Given the description of an element on the screen output the (x, y) to click on. 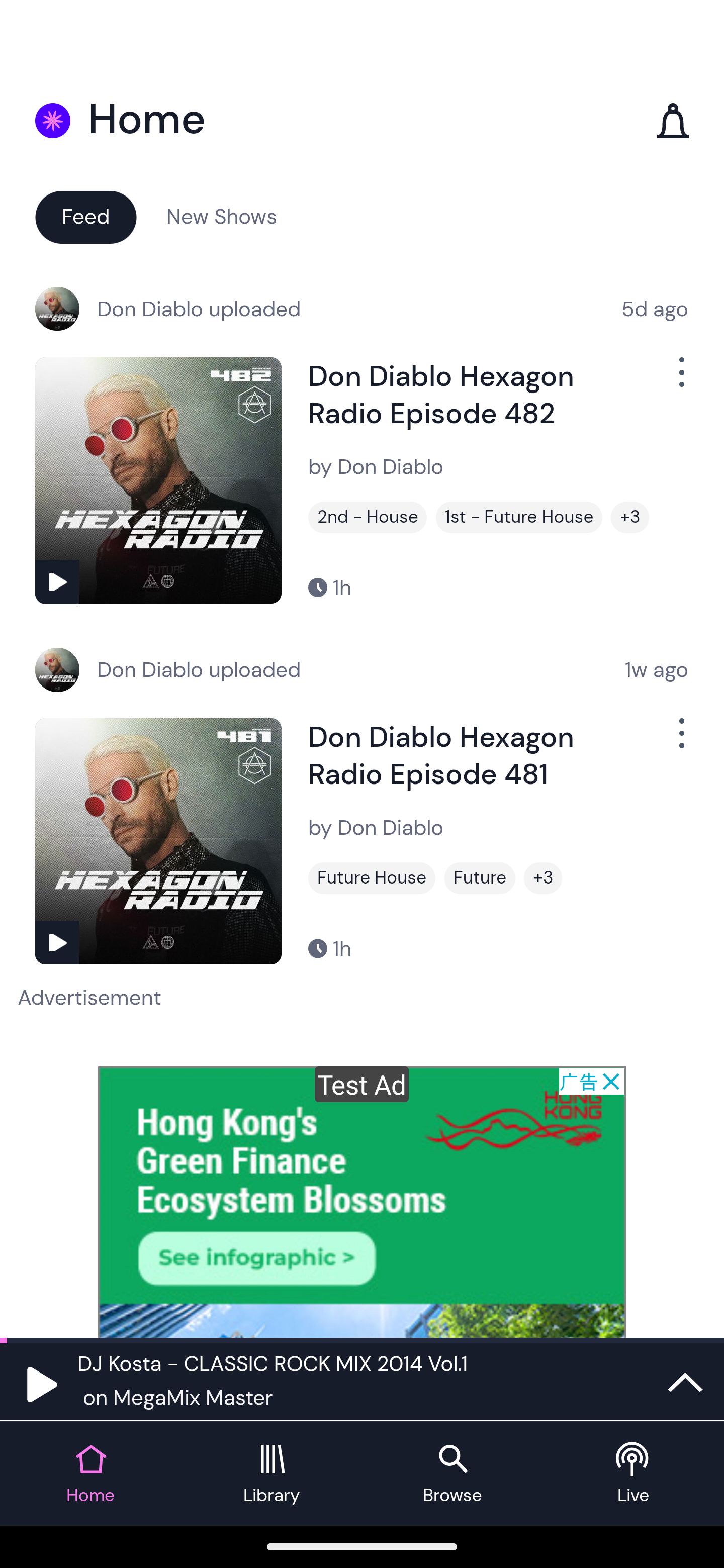
Feed (85, 216)
New Shows (221, 216)
Show Options Menu Button (679, 379)
2nd - House (367, 517)
1st - Future House (518, 517)
Show Options Menu Button (679, 740)
Future House (371, 877)
Future (479, 877)
Advertisement (361, 1201)
Home tab Home (90, 1473)
Library tab Library (271, 1473)
Browse tab Browse (452, 1473)
Live tab Live (633, 1473)
